Given the description of an element on the screen output the (x, y) to click on. 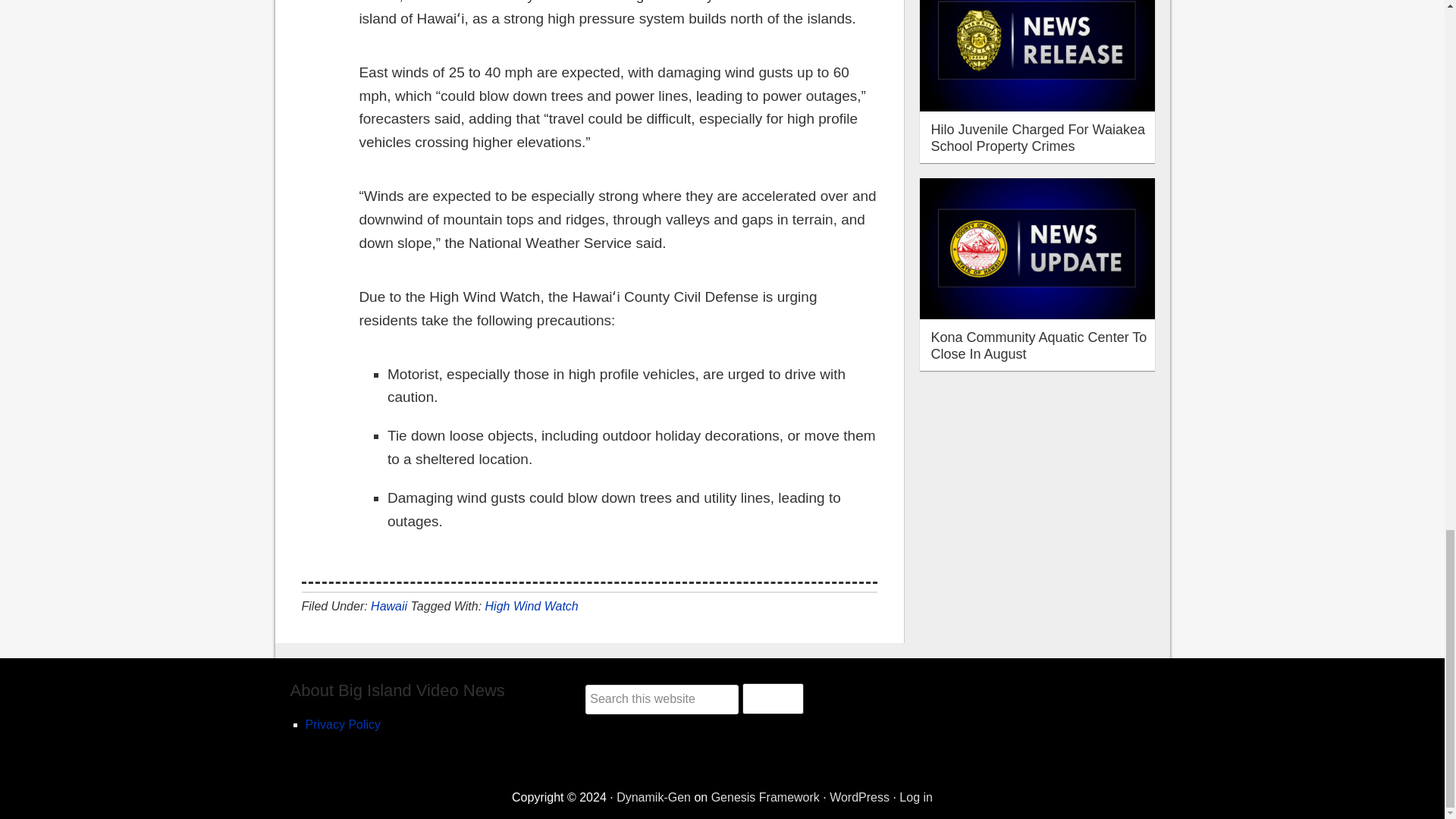
WordPress (859, 797)
Search (772, 698)
Search (772, 698)
Log in (916, 797)
Privacy Policy for Big Island Video News (342, 724)
Dynamik-Gen (652, 797)
Privacy Policy (342, 724)
Search (772, 698)
Kona Community Aquatic Center To Close In August (1039, 346)
Hawaii (389, 605)
Genesis Framework (765, 797)
Hilo Juvenile Charged For Waiakea School Property Crimes (1037, 138)
High Wind Watch (531, 605)
